Given the description of an element on the screen output the (x, y) to click on. 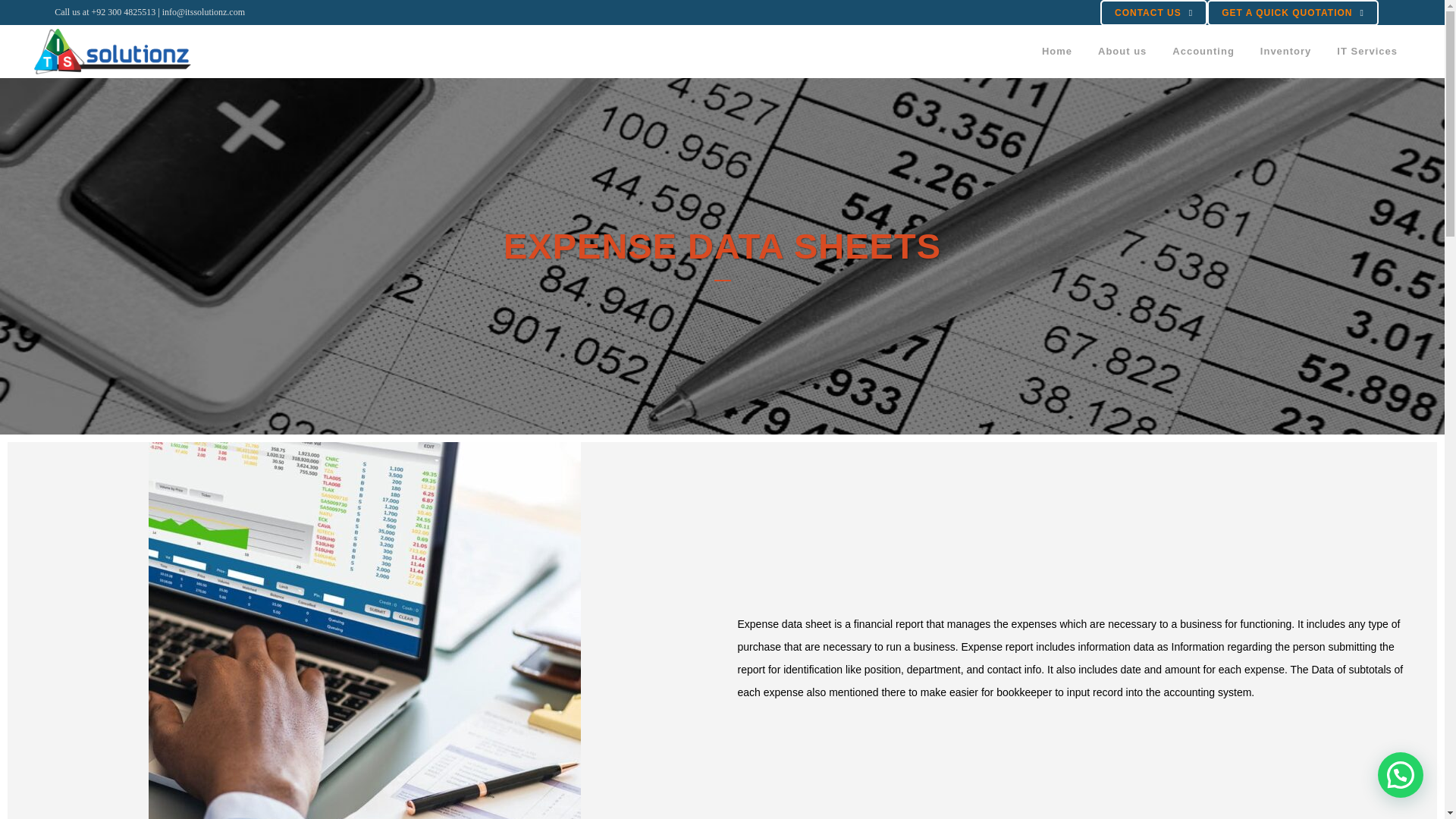
About us (1121, 51)
Home (1056, 51)
GET A QUICK QUOTATION (1292, 12)
IT Services (1366, 51)
Inventory (1285, 51)
Accounting (1202, 51)
CONTACT US (1153, 12)
